Given the description of an element on the screen output the (x, y) to click on. 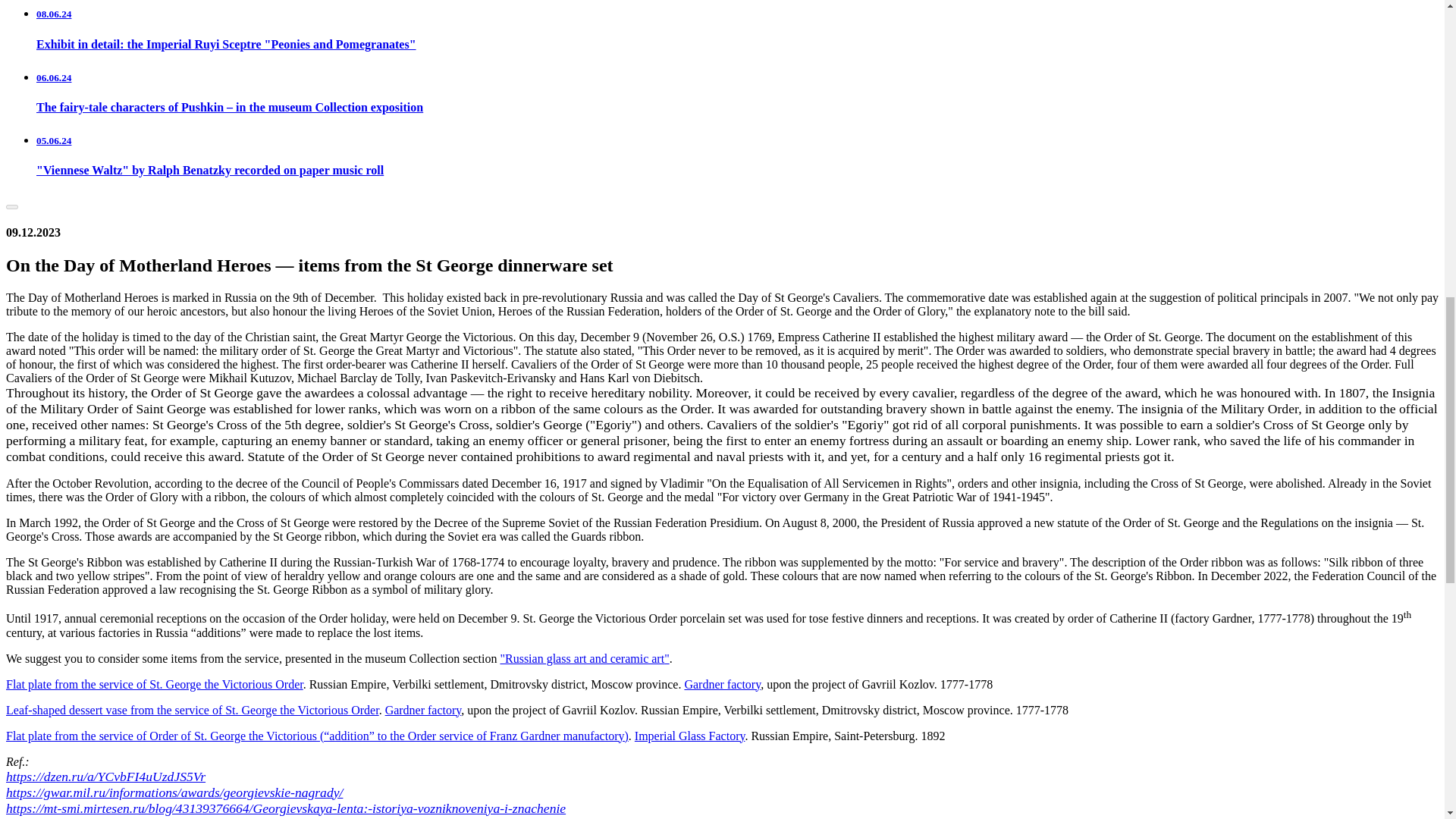
Imperial Glass Factory (689, 735)
Gardner factory (423, 709)
Gardner factory (722, 684)
"Russian glass art and ceramic art (581, 658)
